Given the description of an element on the screen output the (x, y) to click on. 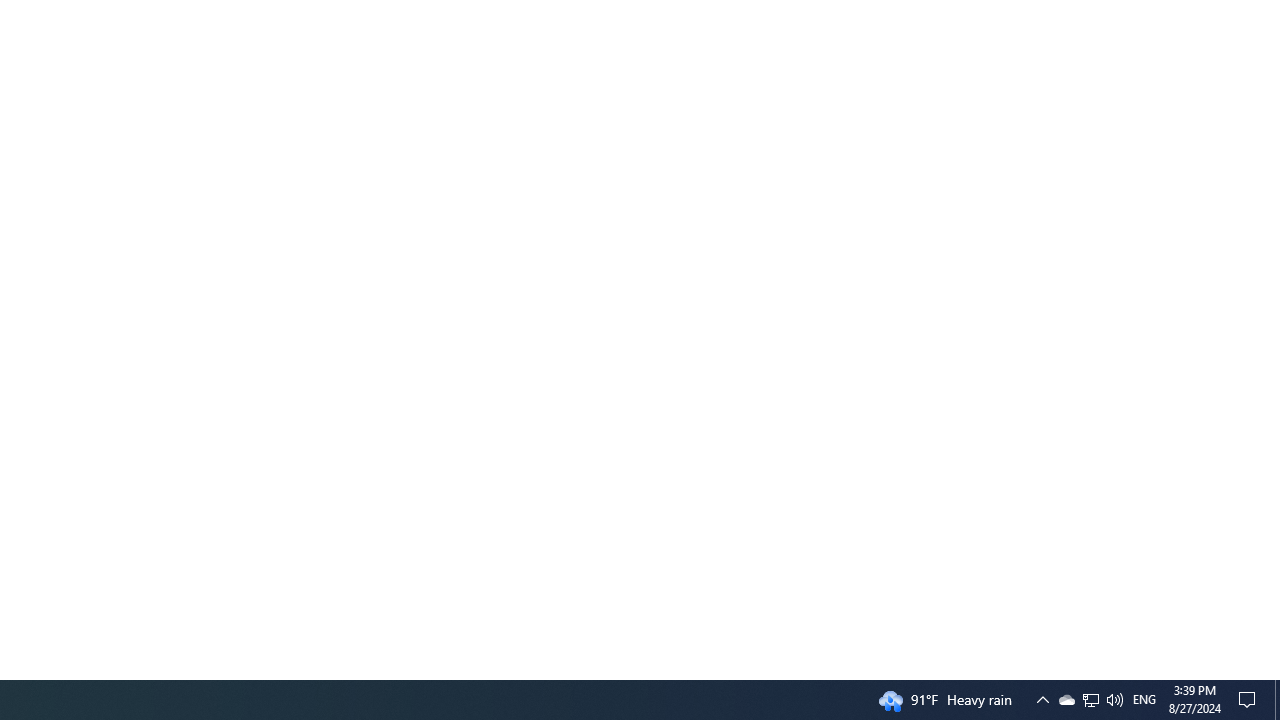
Show desktop (1277, 699)
Tray Input Indicator - English (United States) (1144, 699)
Notification Chevron (1042, 699)
Q2790: 100% (1066, 699)
User Promoted Notification Area (1091, 699)
Action Center, No new notifications (1114, 699)
